Given the description of an element on the screen output the (x, y) to click on. 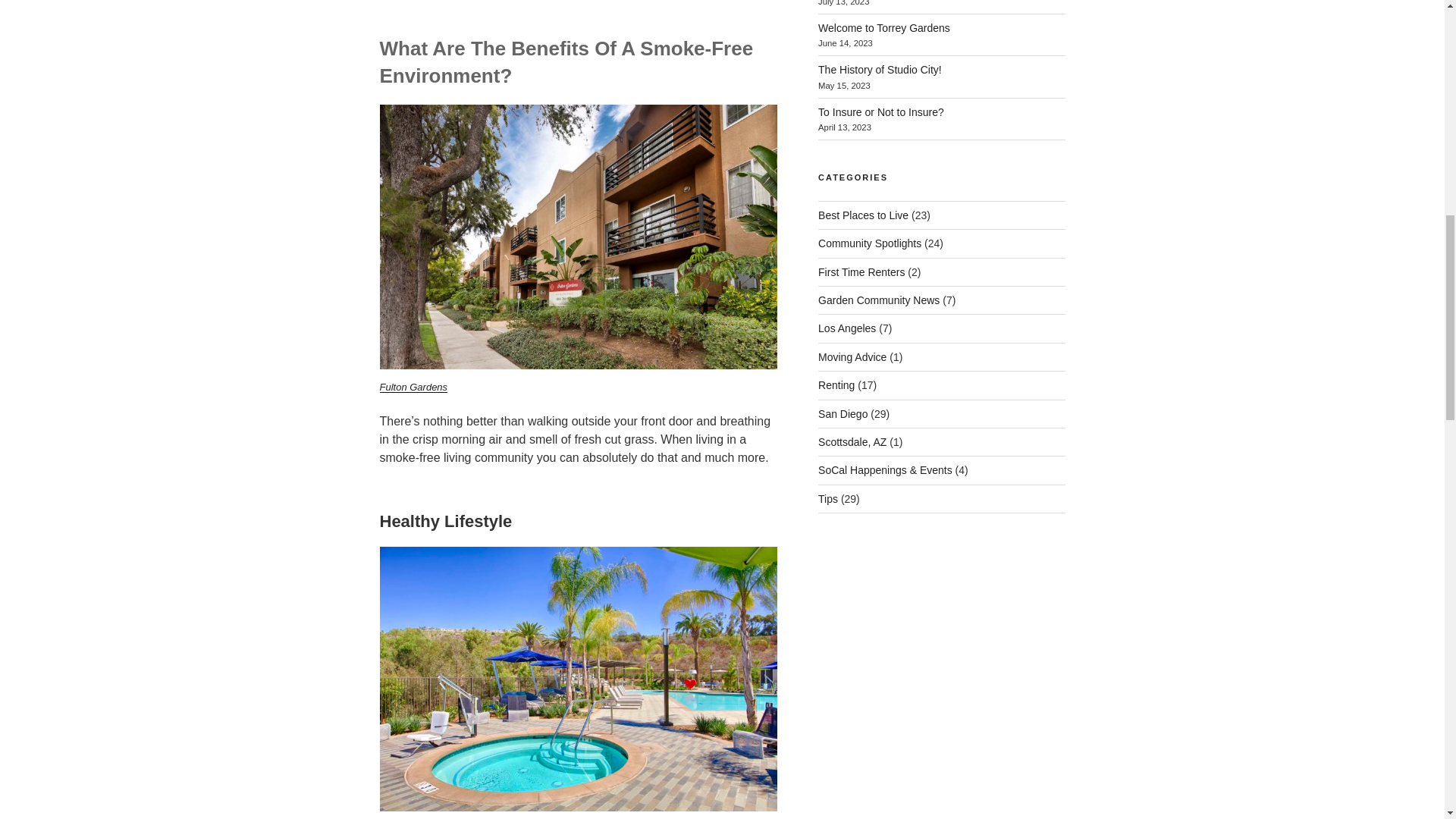
Welcome to Torrey Gardens (884, 28)
Los Angeles (847, 328)
Moving Advice (852, 357)
The History of Studio City! (880, 69)
First Time Renters (861, 272)
To Insure or Not to Insure?  (882, 111)
Best Places to Live (863, 215)
Fulton Gardens (412, 387)
Garden Community News (878, 300)
Community Spotlights (869, 243)
